Given the description of an element on the screen output the (x, y) to click on. 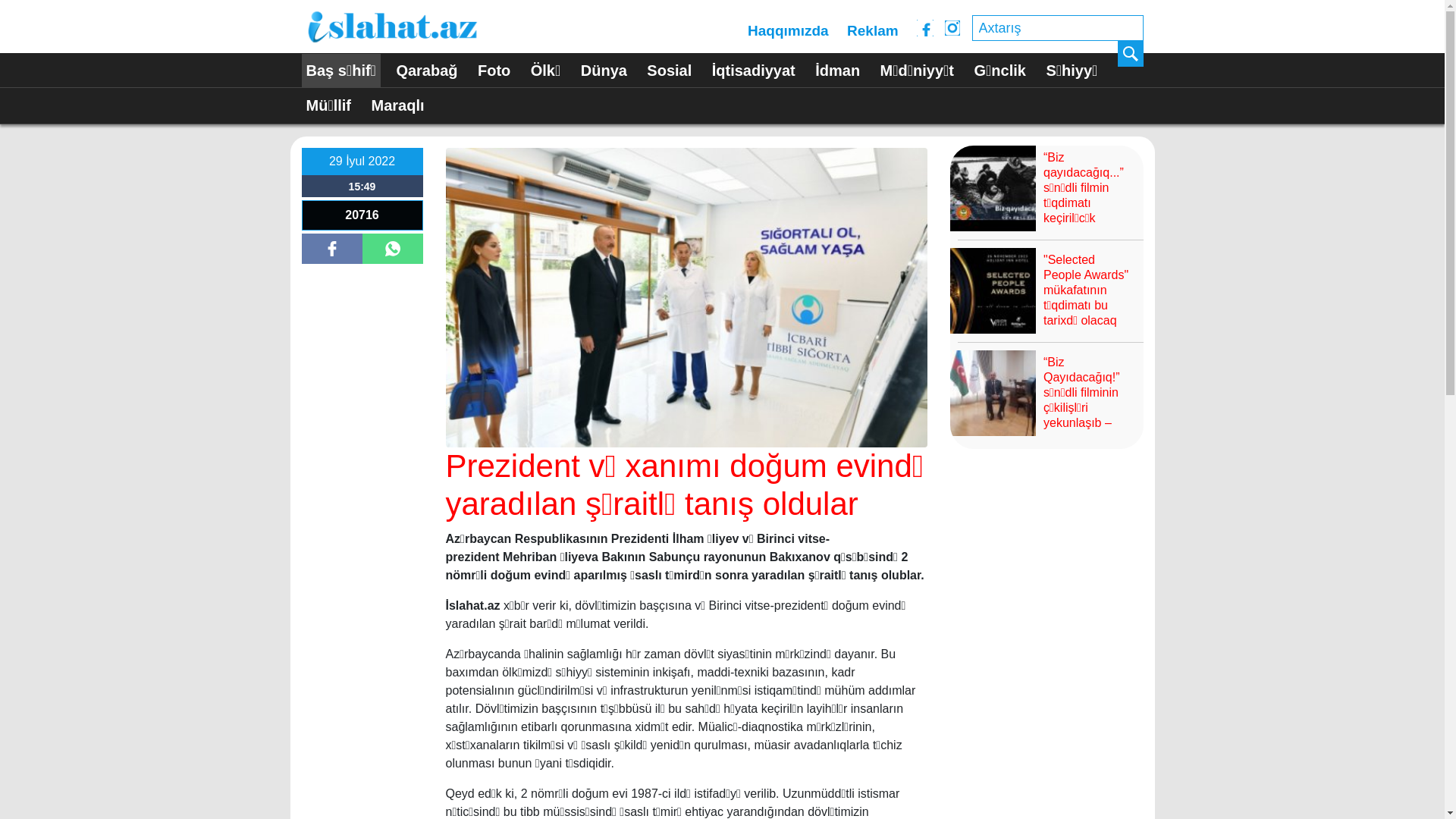
Facebook Element type: text (924, 27)
Reklam Element type: text (872, 30)
Axtar Element type: hover (1130, 53)
Sosial Element type: text (669, 70)
Foto Element type: text (493, 70)
Axtar Element type: text (1130, 53)
